Given the description of an element on the screen output the (x, y) to click on. 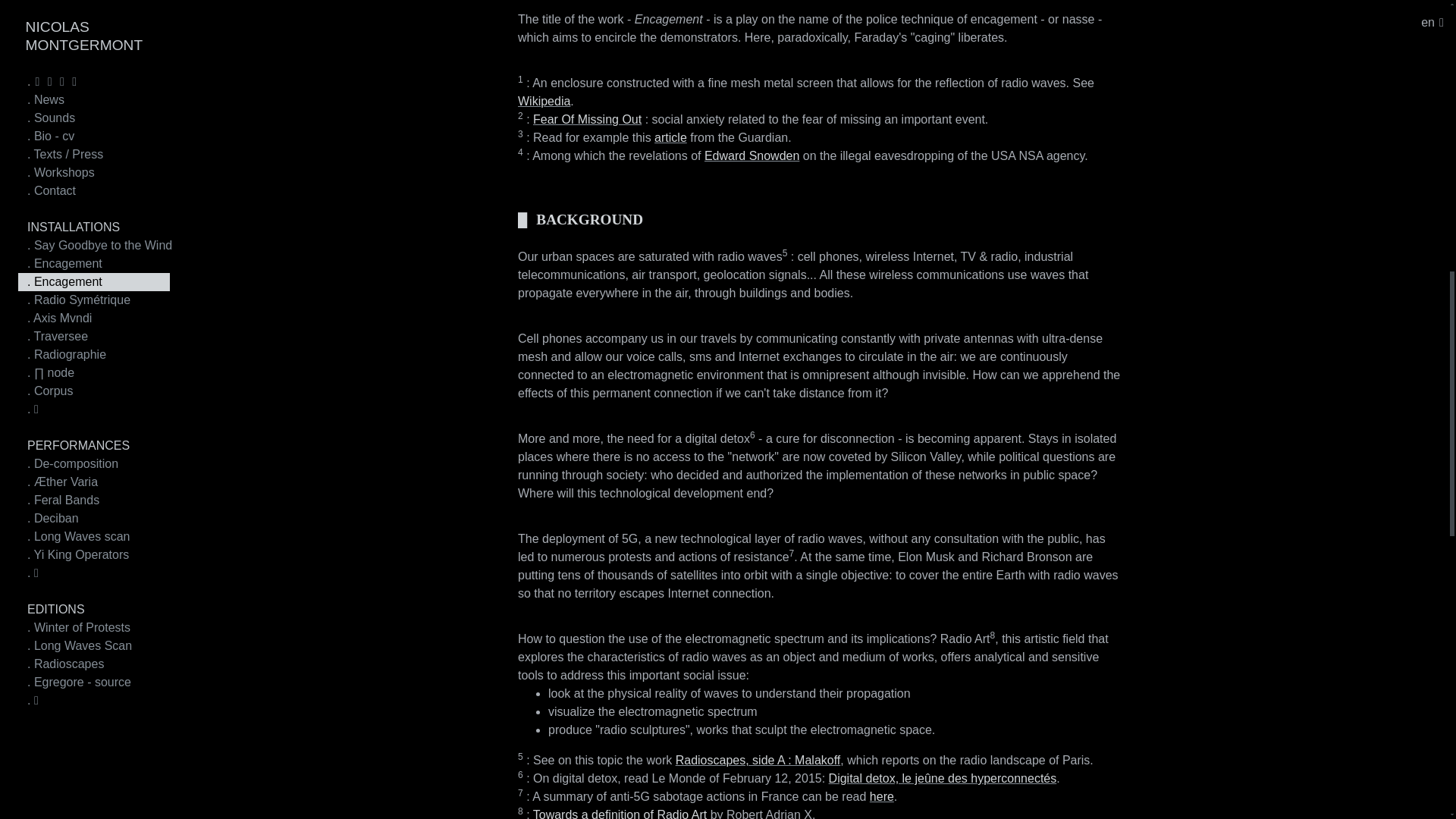
Fear Of Missing Out (587, 119)
Wikipedia (544, 101)
